Given the description of an element on the screen output the (x, y) to click on. 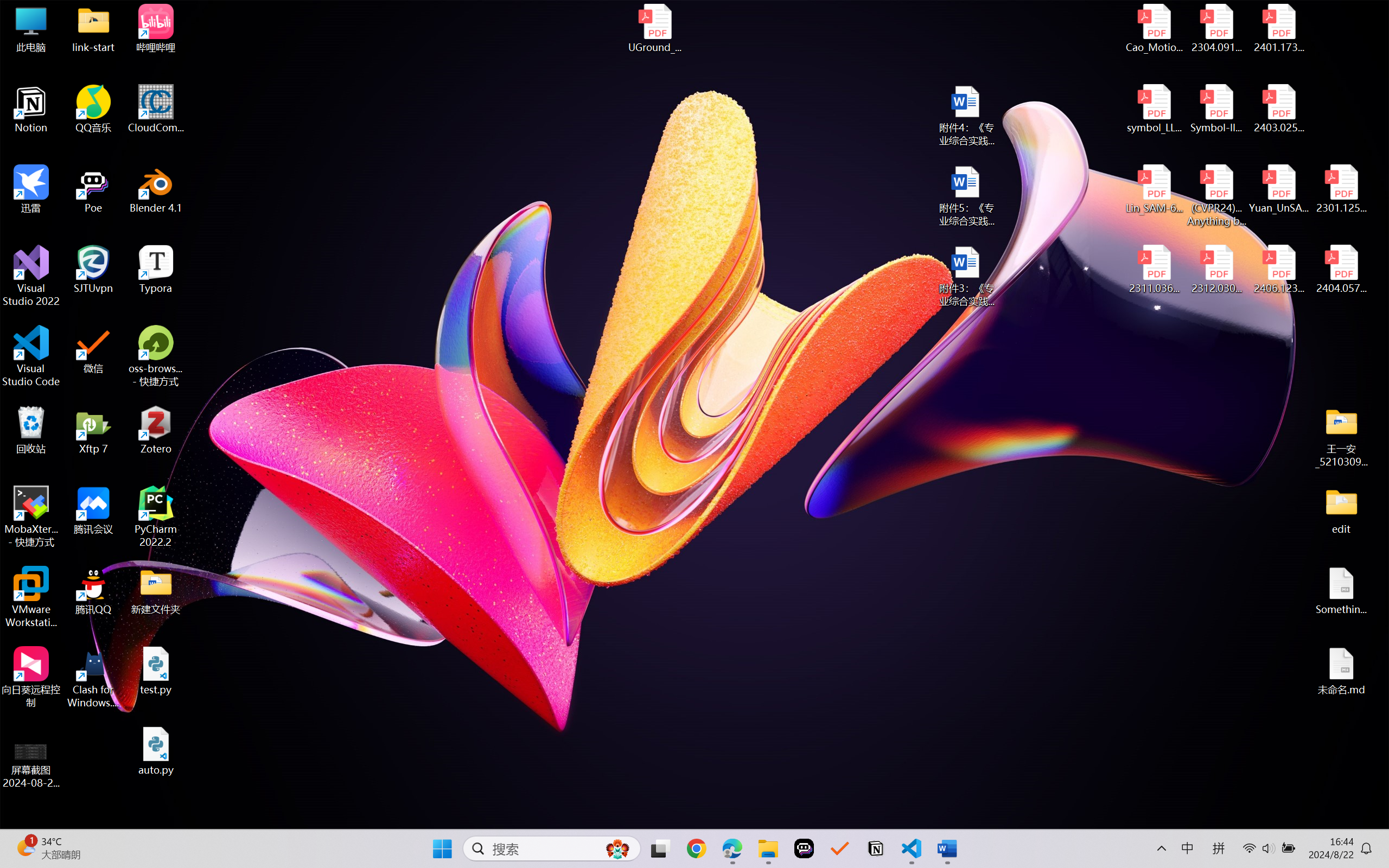
edit (1340, 510)
2403.02502v1.pdf (1278, 109)
2304.09121v3.pdf (1216, 28)
CloudCompare (156, 109)
Symbol-llm-v2.pdf (1216, 109)
